Given the description of an element on the screen output the (x, y) to click on. 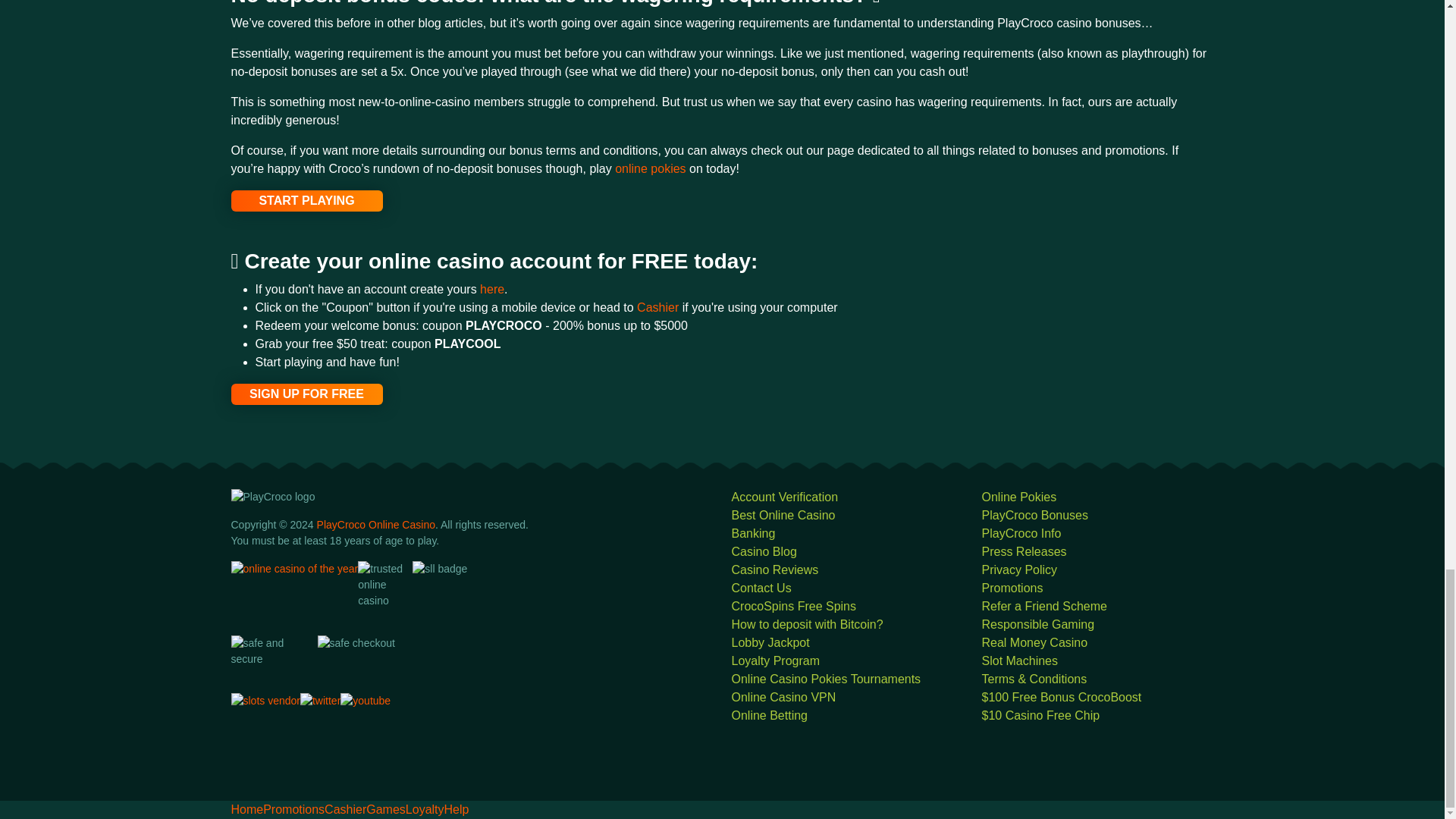
Banking (752, 533)
online pokies (649, 168)
Contact Us (760, 587)
Cashier (659, 307)
PlayCroco best online casino in Australia (782, 514)
PlayCroco Online Casino (376, 524)
SIGN UP FOR FREE (305, 394)
Best Online Casino (782, 514)
playcroco online casino cashier (659, 307)
Casino Blog (763, 551)
PlayCroco Online Casino (376, 524)
START PLAYING (305, 200)
online pokies and slots (649, 168)
here (491, 288)
Account Verification (784, 496)
